Given the description of an element on the screen output the (x, y) to click on. 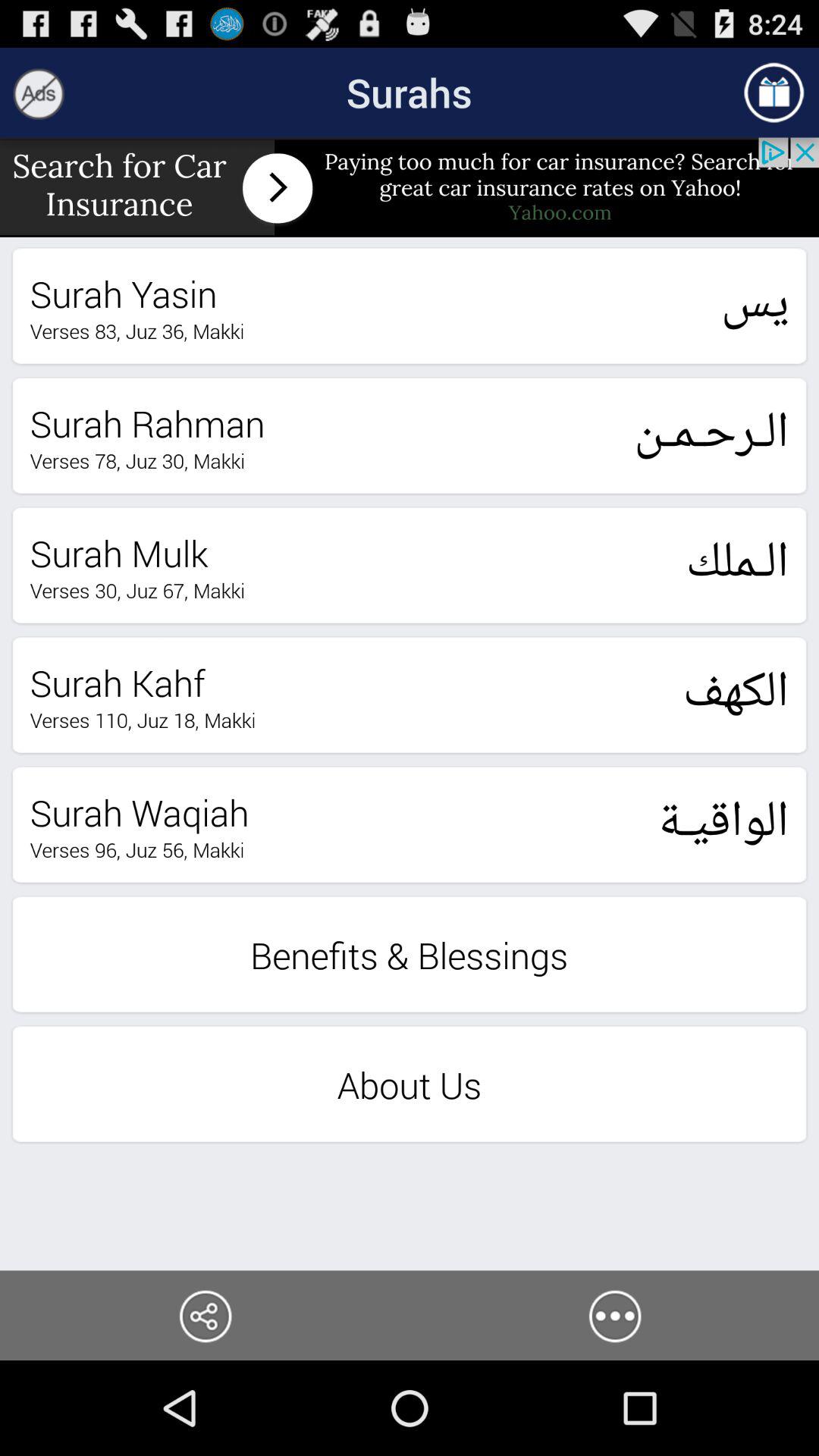
share (204, 1315)
